Given the description of an element on the screen output the (x, y) to click on. 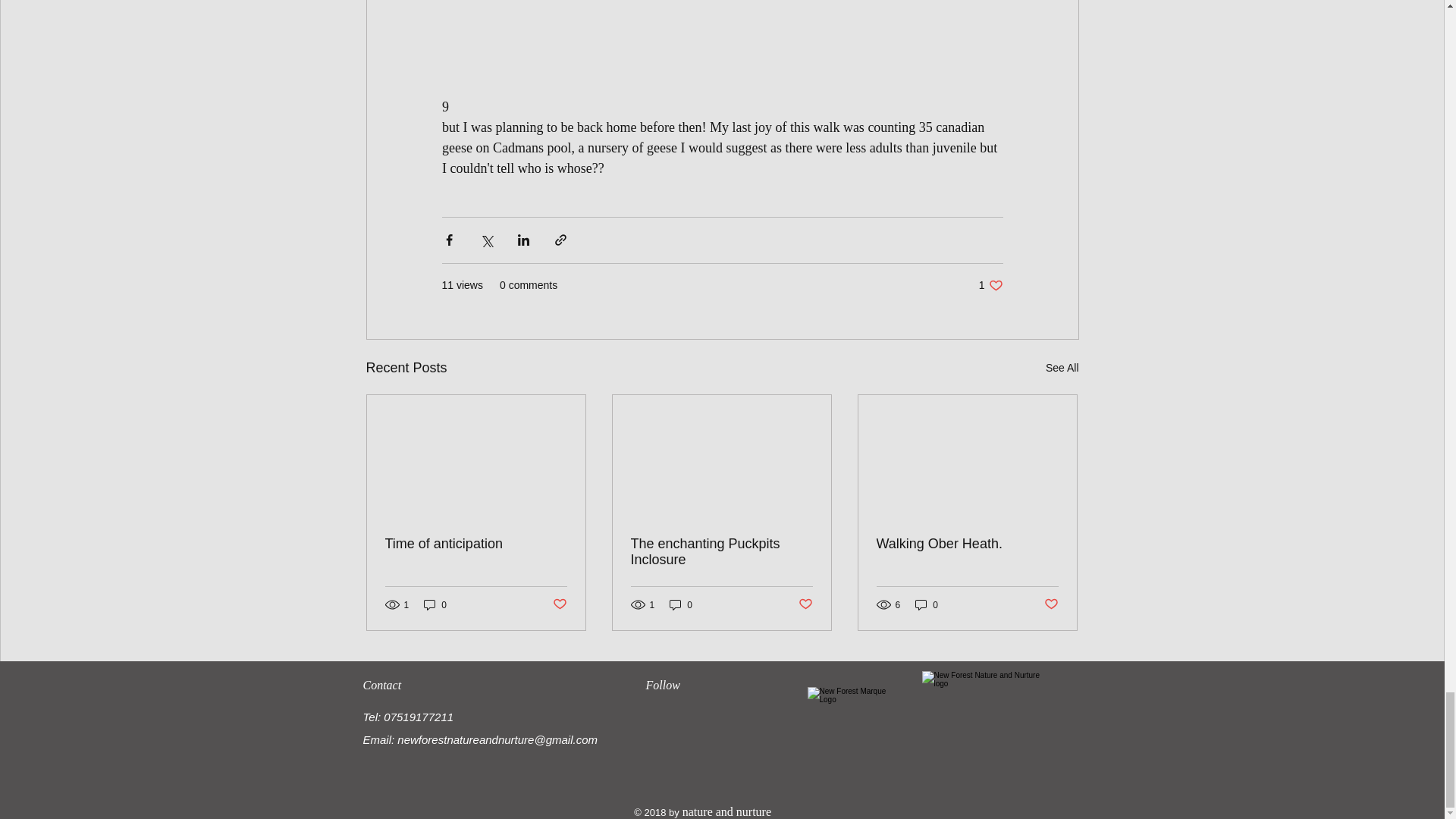
Walking Ober Heath. (967, 544)
Post not marked as liked (558, 604)
See All (1061, 368)
Post not marked as liked (804, 604)
0 (435, 604)
The enchanting Puckpits Inclosure (721, 552)
0 (990, 285)
Time of anticipation (681, 604)
